Given the description of an element on the screen output the (x, y) to click on. 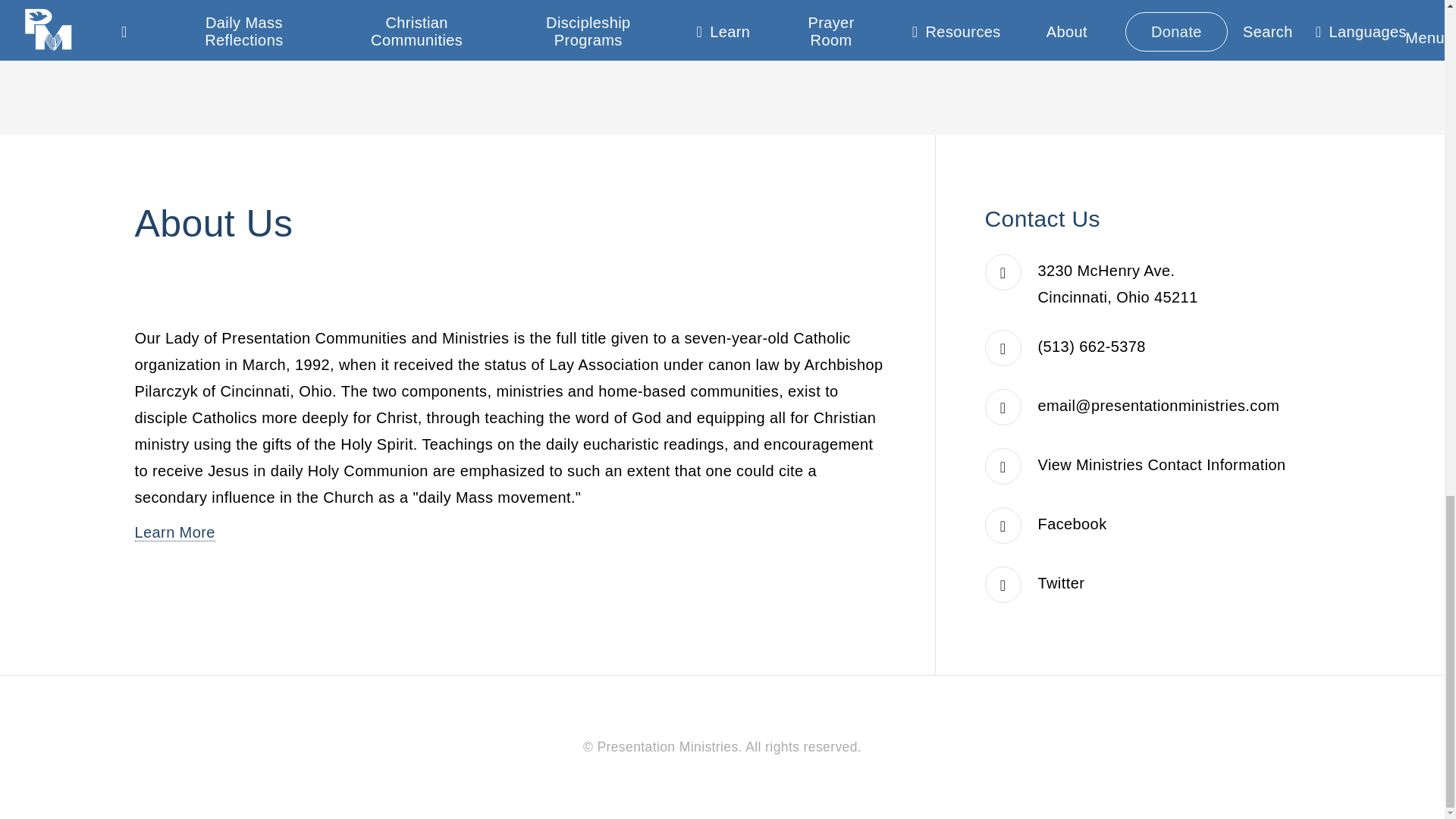
Telephone (1091, 346)
Facebook (1072, 523)
Twitter (1061, 582)
E-mail (1158, 405)
